Given the description of an element on the screen output the (x, y) to click on. 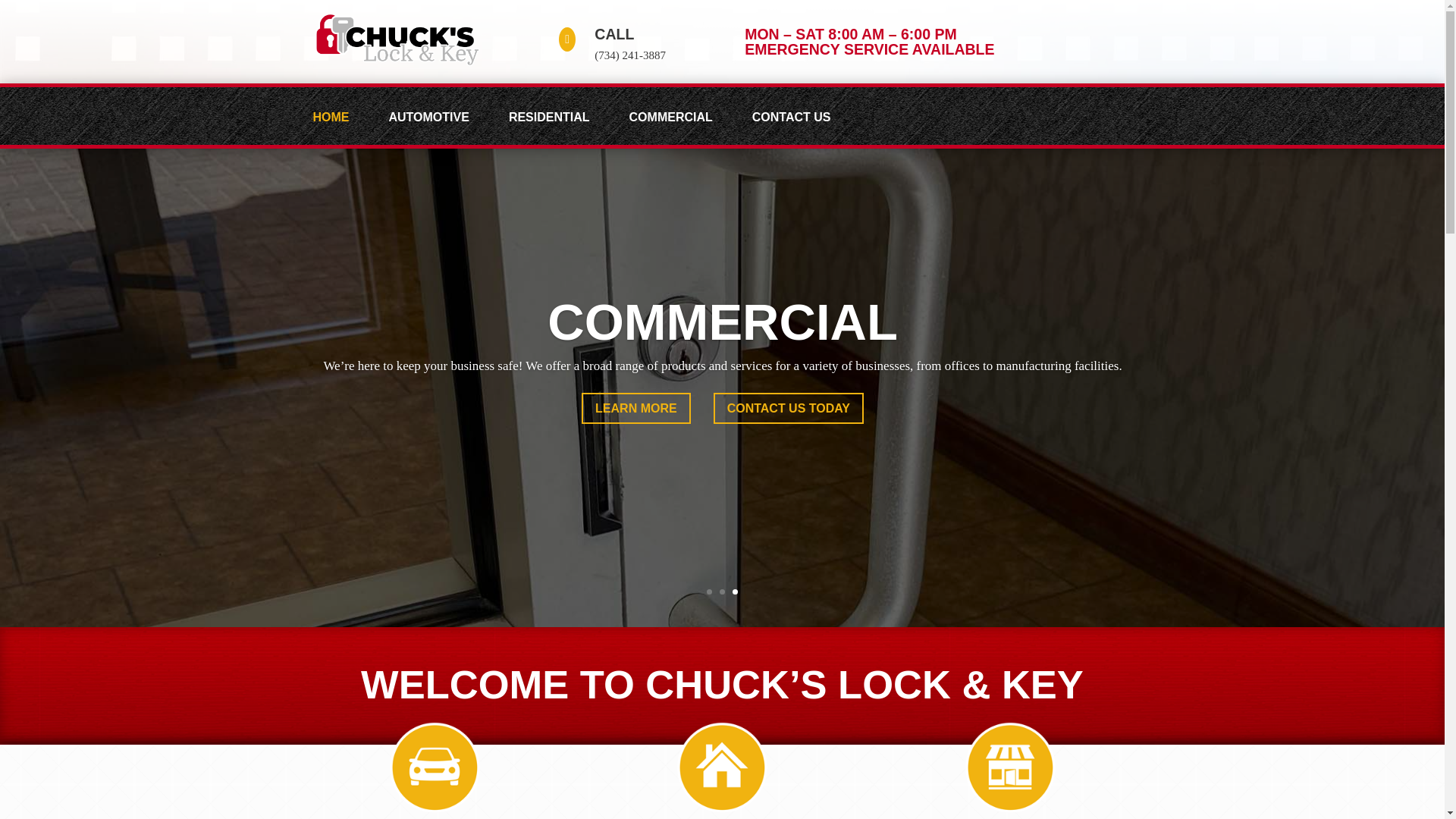
3 (735, 591)
AUTOMOTIVE (440, 128)
1 (708, 591)
RESIDENTIAL (560, 128)
CONTACT US TODAY (788, 455)
HOME (342, 128)
LEARN MORE (635, 455)
COMMERCIAL (722, 369)
2 (722, 591)
gettyimages-866487560-2048x2048 (398, 39)
COMMERCIAL (681, 128)
CONTACT US (802, 128)
CALL (613, 33)
